Given the description of an element on the screen output the (x, y) to click on. 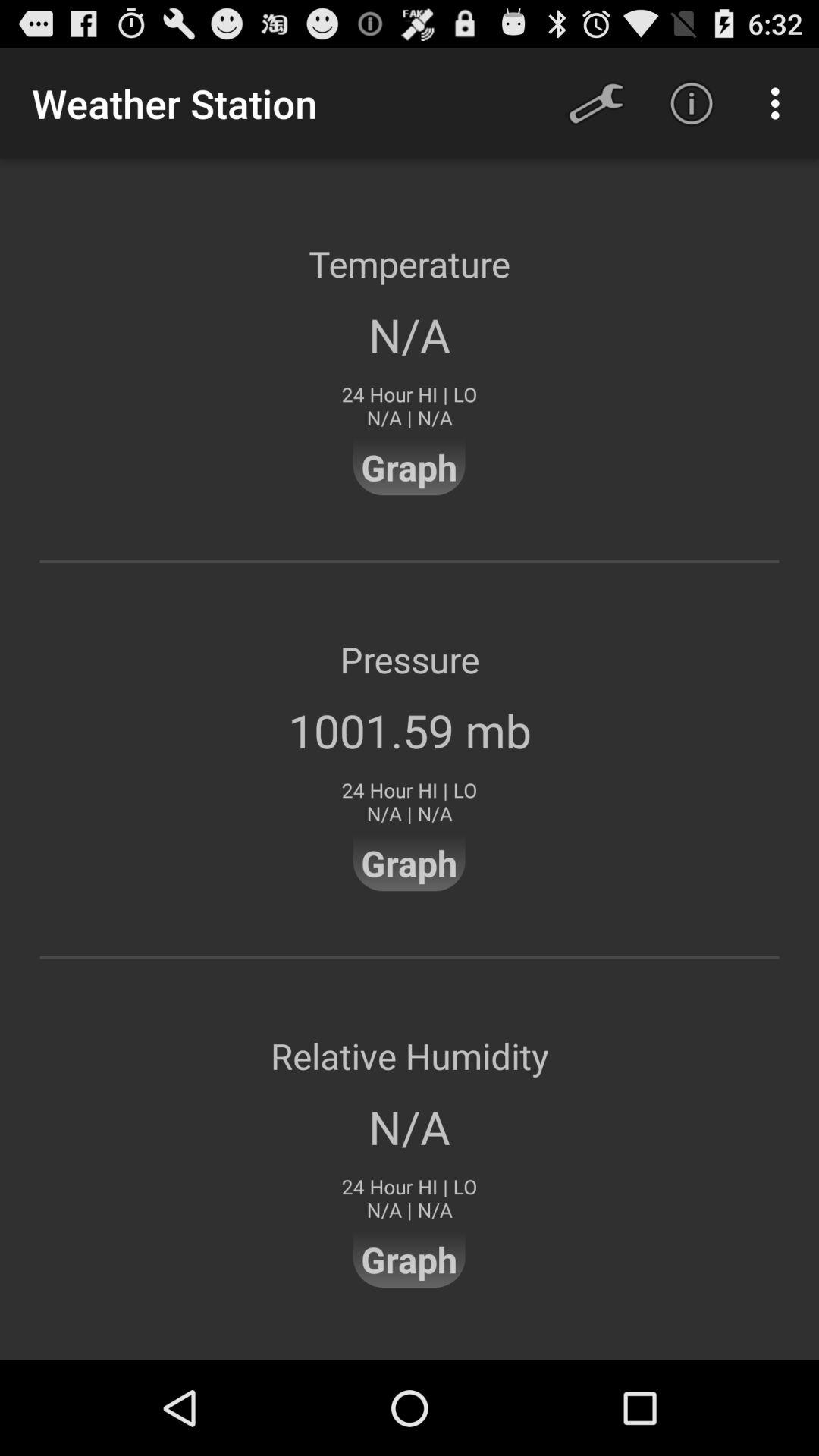
turn on app above the temperature (779, 103)
